Given the description of an element on the screen output the (x, y) to click on. 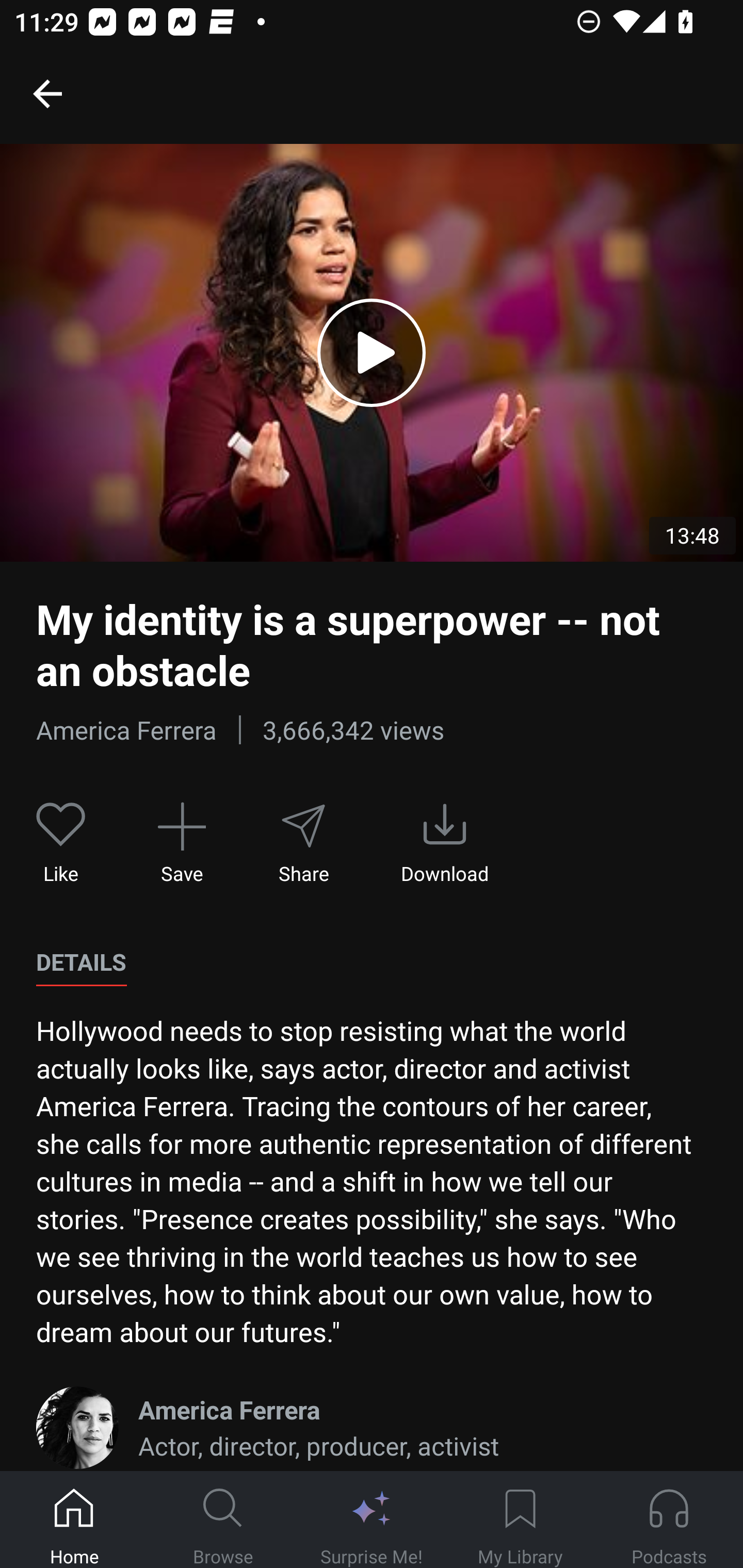
Home, back (47, 92)
Like (60, 843)
Save (181, 843)
Share (302, 843)
Download (444, 843)
DETAILS (80, 962)
Home (74, 1520)
Browse (222, 1520)
Surprise Me! (371, 1520)
My Library (519, 1520)
Podcasts (668, 1520)
